Given the description of an element on the screen output the (x, y) to click on. 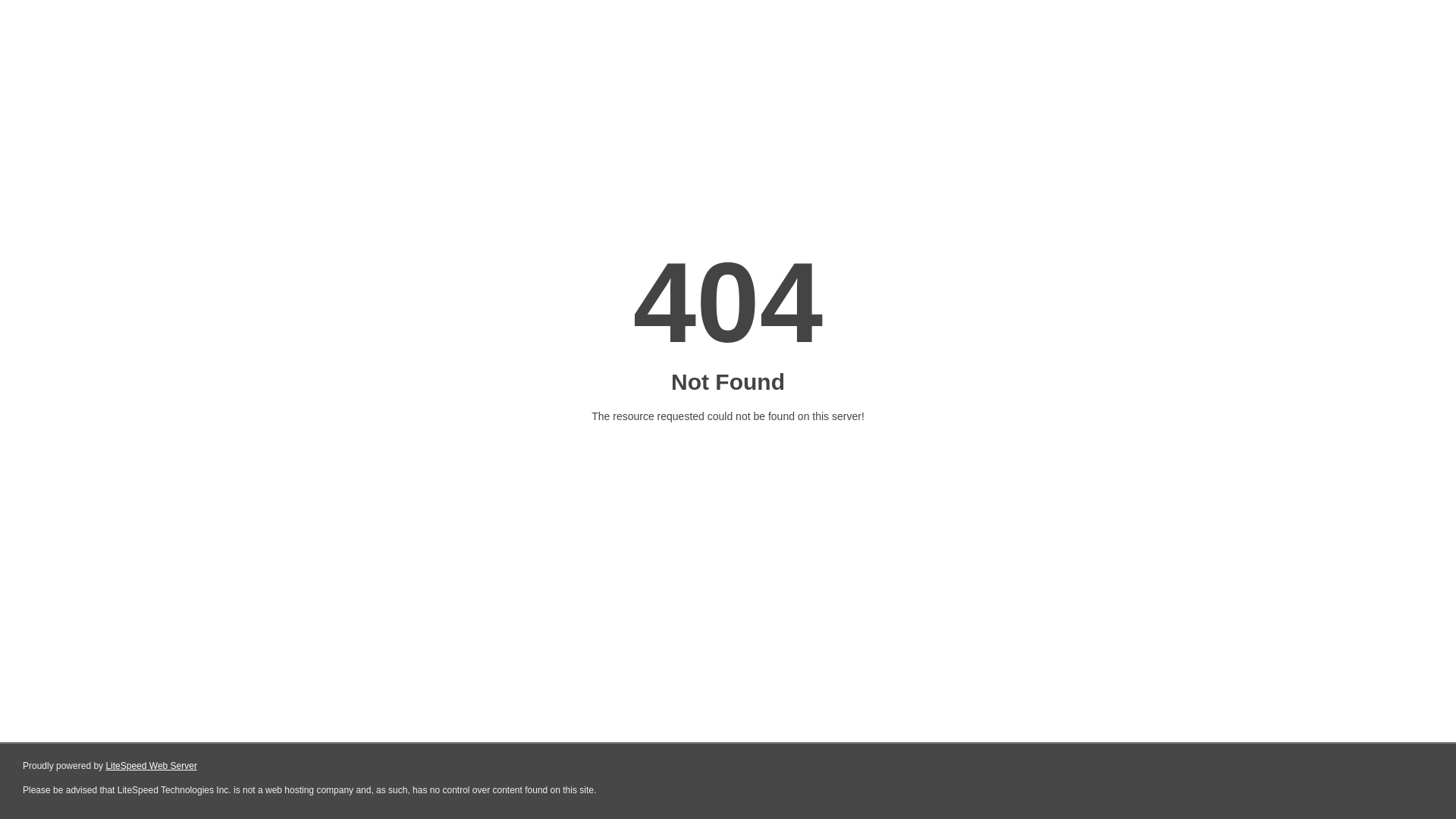
LiteSpeed Web Server Element type: text (151, 765)
